Given the description of an element on the screen output the (x, y) to click on. 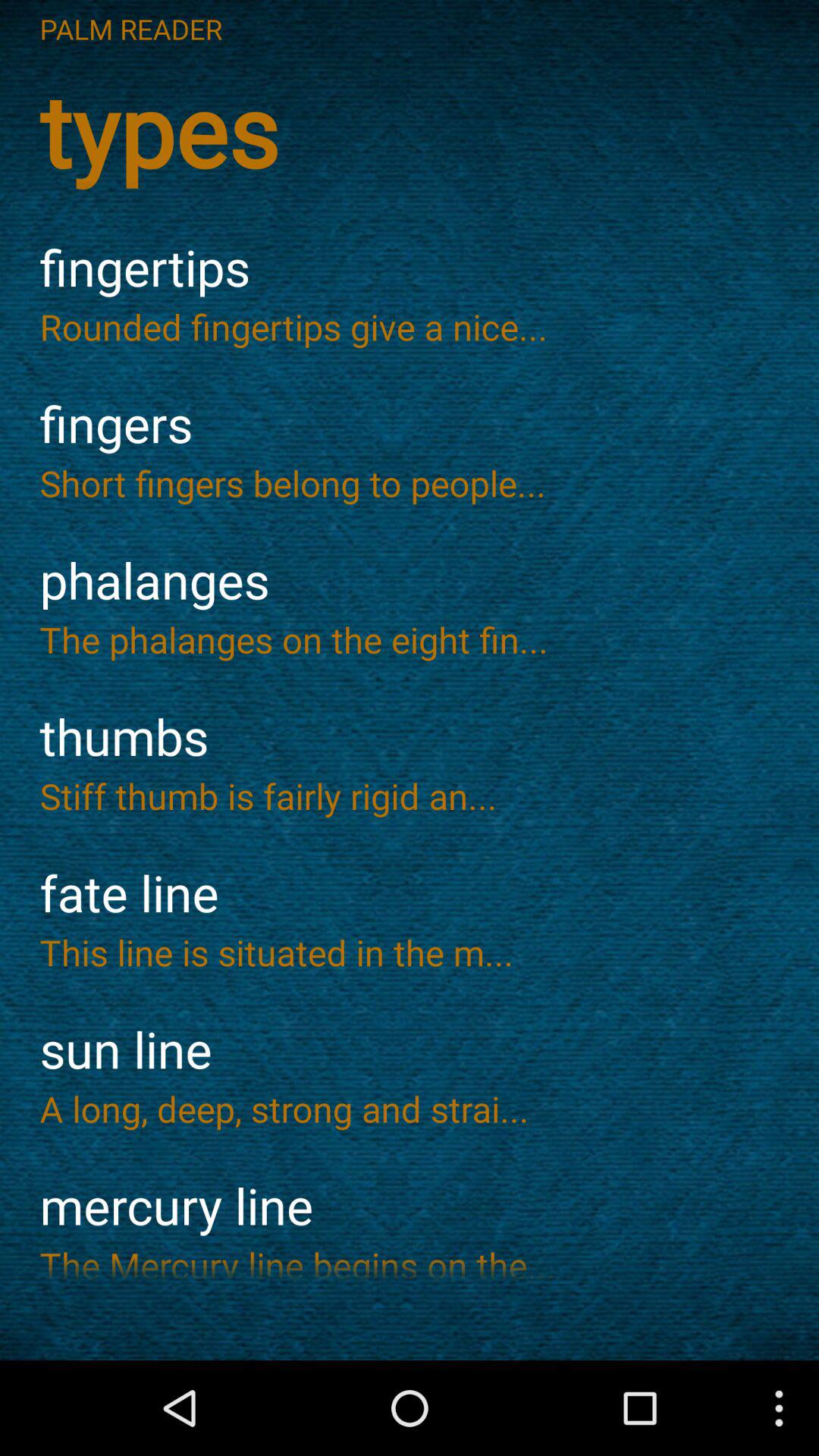
turn on the fate line app (409, 893)
